Given the description of an element on the screen output the (x, y) to click on. 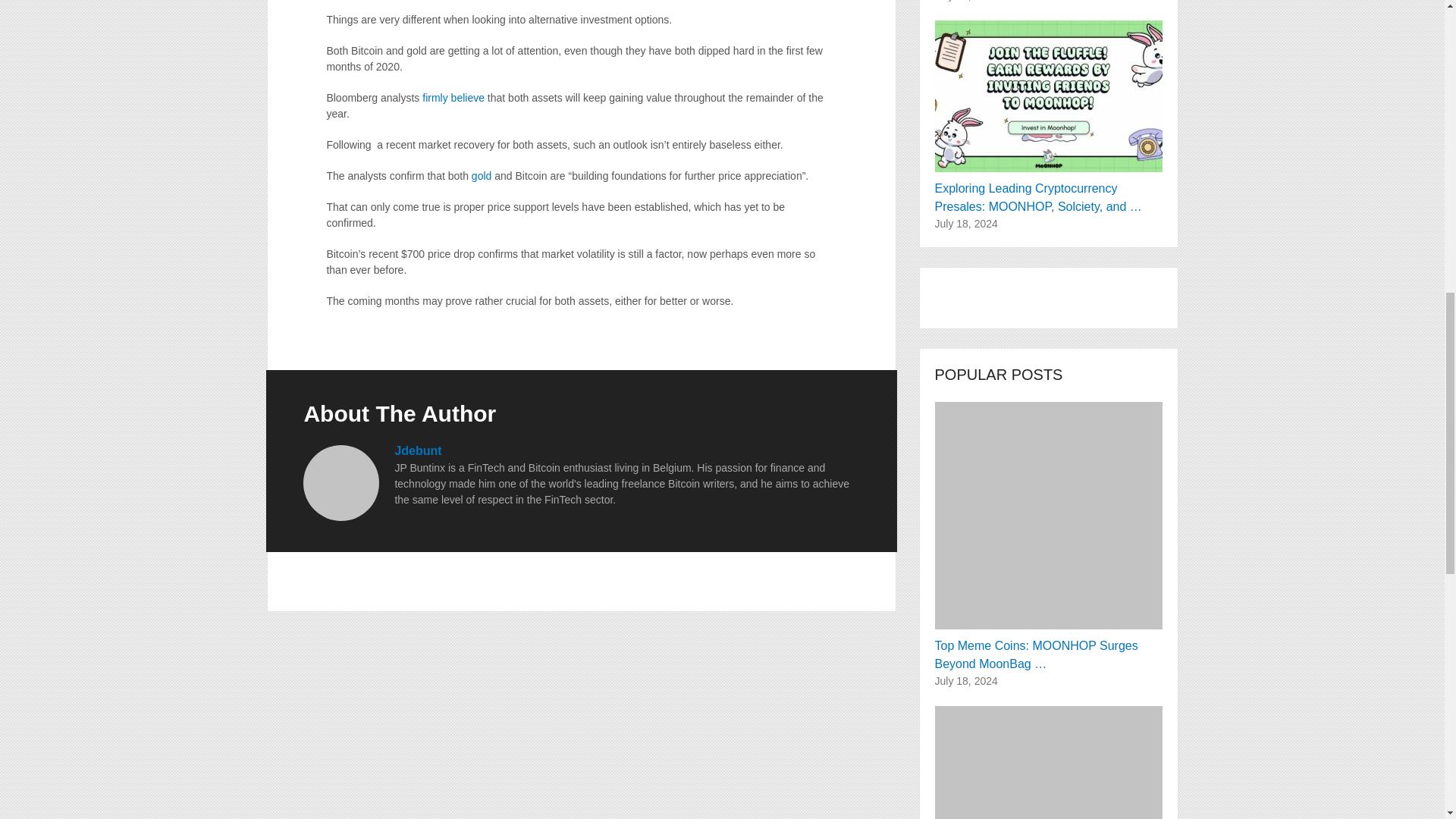
gold (481, 175)
Jdebunt (417, 450)
firmly believe (453, 97)
